Given the description of an element on the screen output the (x, y) to click on. 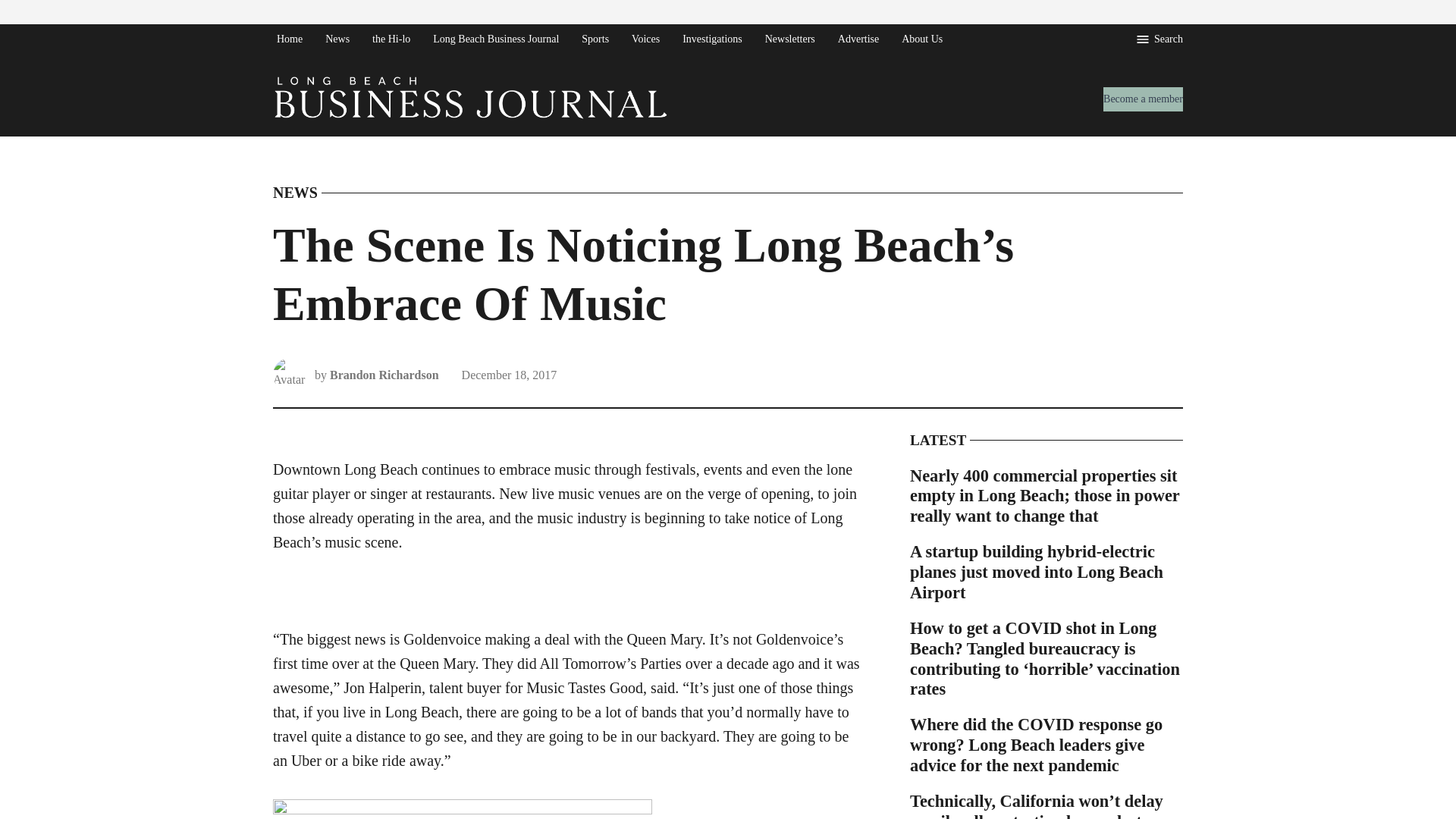
Investigations (711, 38)
Long Beach Business Journal (722, 131)
Become a member (1142, 98)
Sports (595, 38)
Advertise (858, 38)
Long Beach Business Journal (495, 38)
Newsletters (789, 38)
Brandon Richardson (384, 374)
Search (1158, 38)
About Us (922, 38)
